Given the description of an element on the screen output the (x, y) to click on. 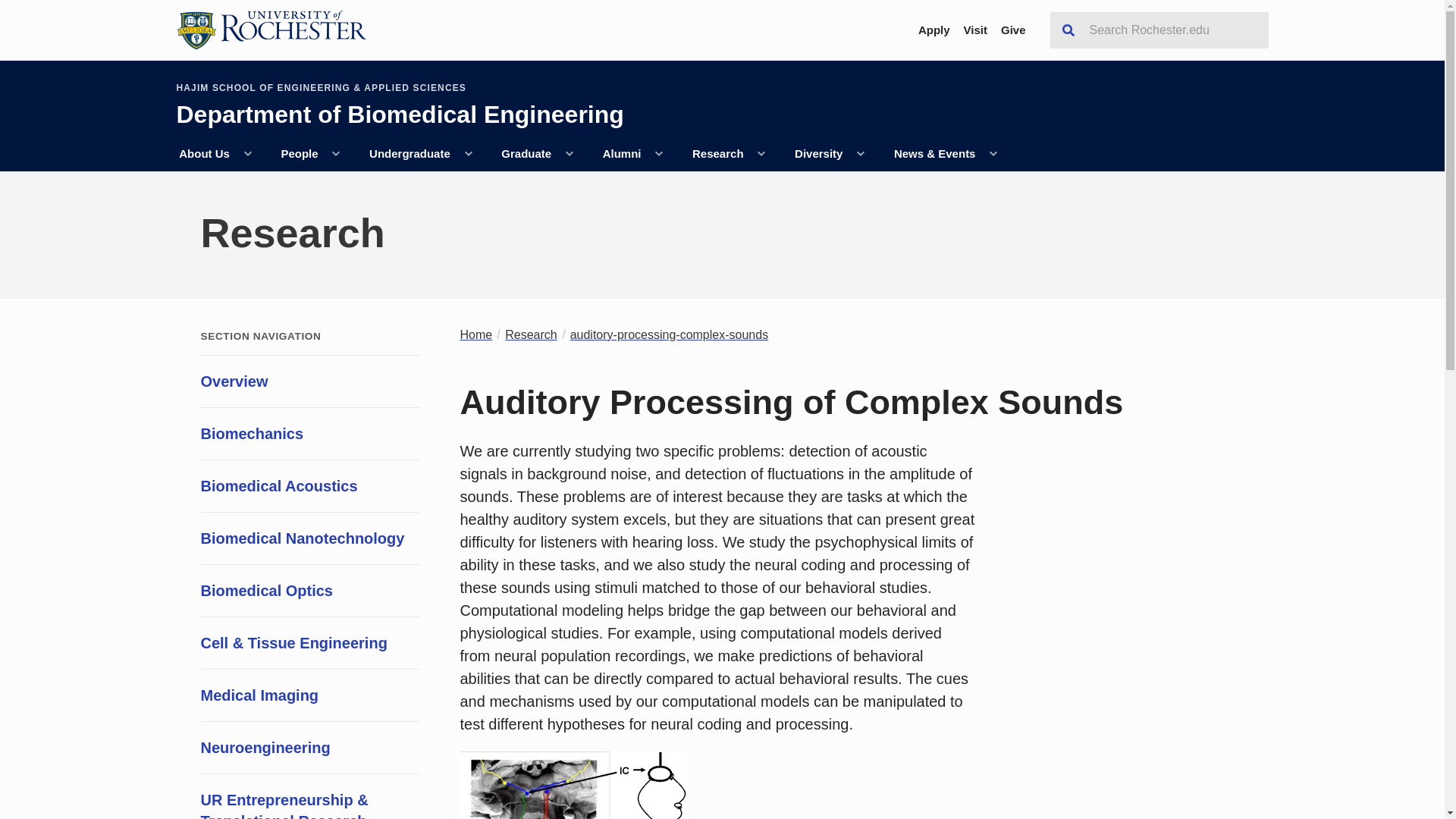
Apply (934, 30)
People (299, 154)
Search (1067, 30)
Department of Biomedical Engineering (399, 123)
About Us (203, 154)
Undergraduate (409, 154)
